Given the description of an element on the screen output the (x, y) to click on. 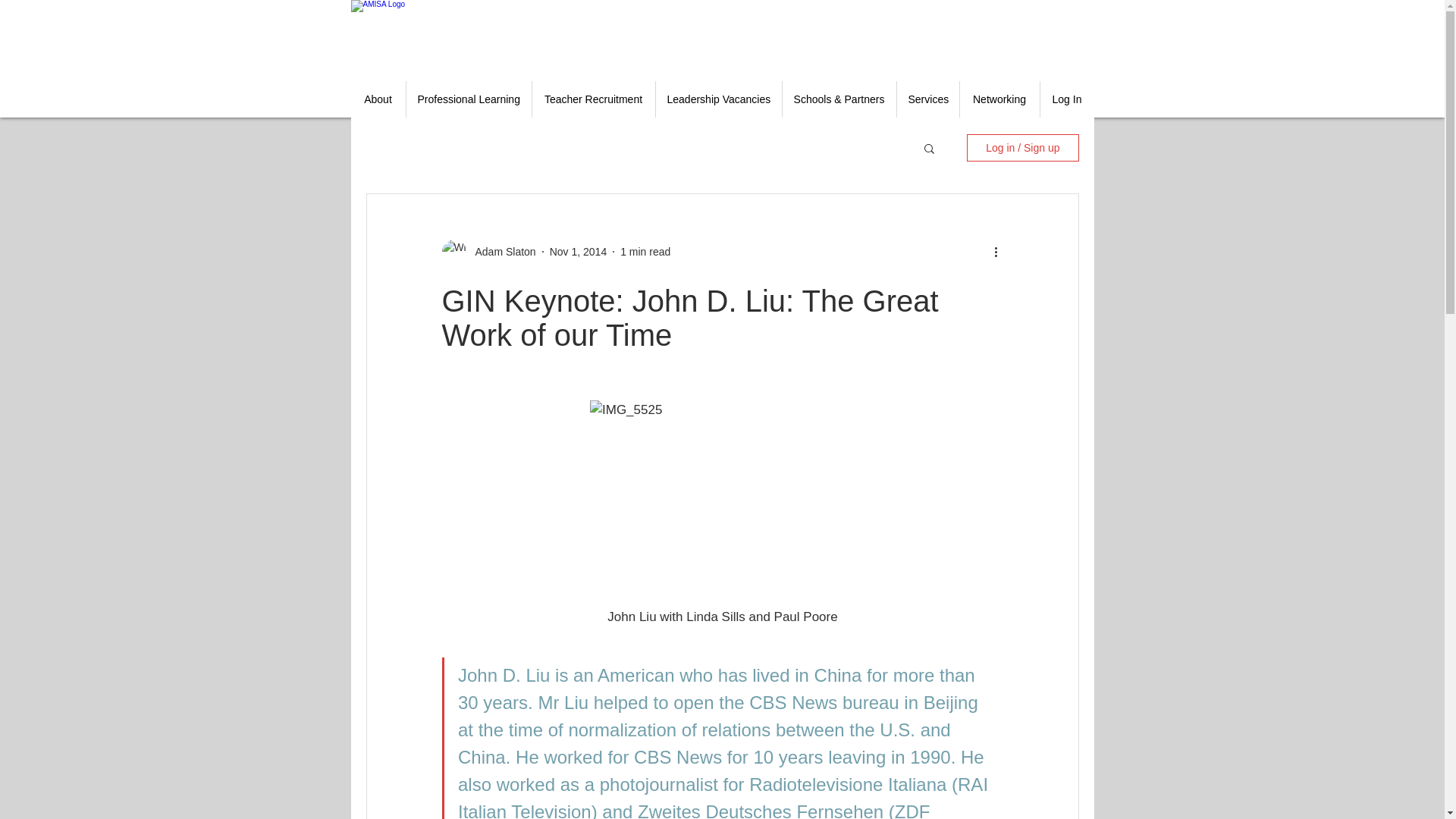
1 min read (644, 251)
Adam Slaton (500, 252)
Nov 1, 2014 (578, 251)
AMISA-logo-transparent.png (433, 35)
